Given the description of an element on the screen output the (x, y) to click on. 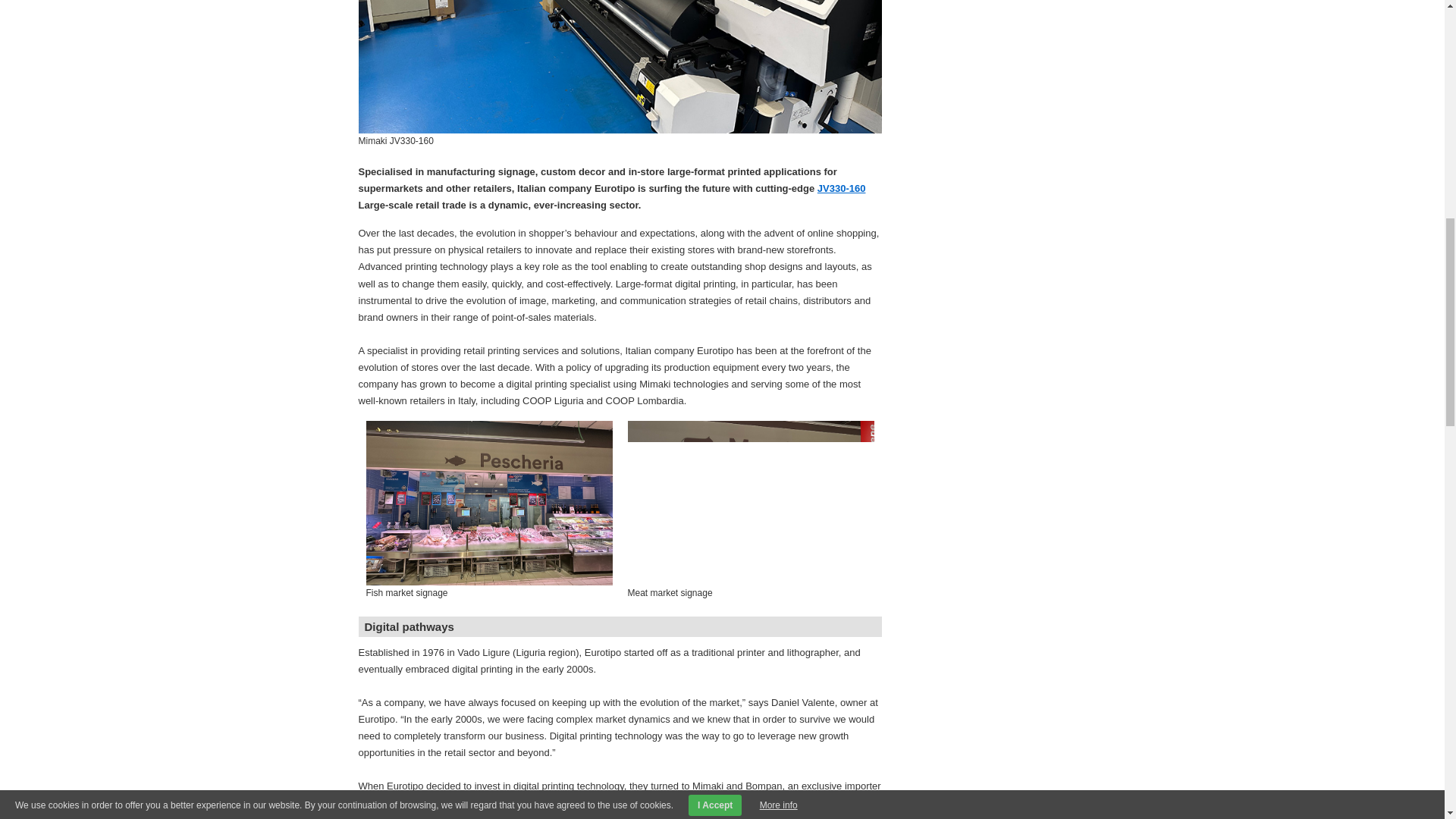
JV330-160 (841, 188)
